Given the description of an element on the screen output the (x, y) to click on. 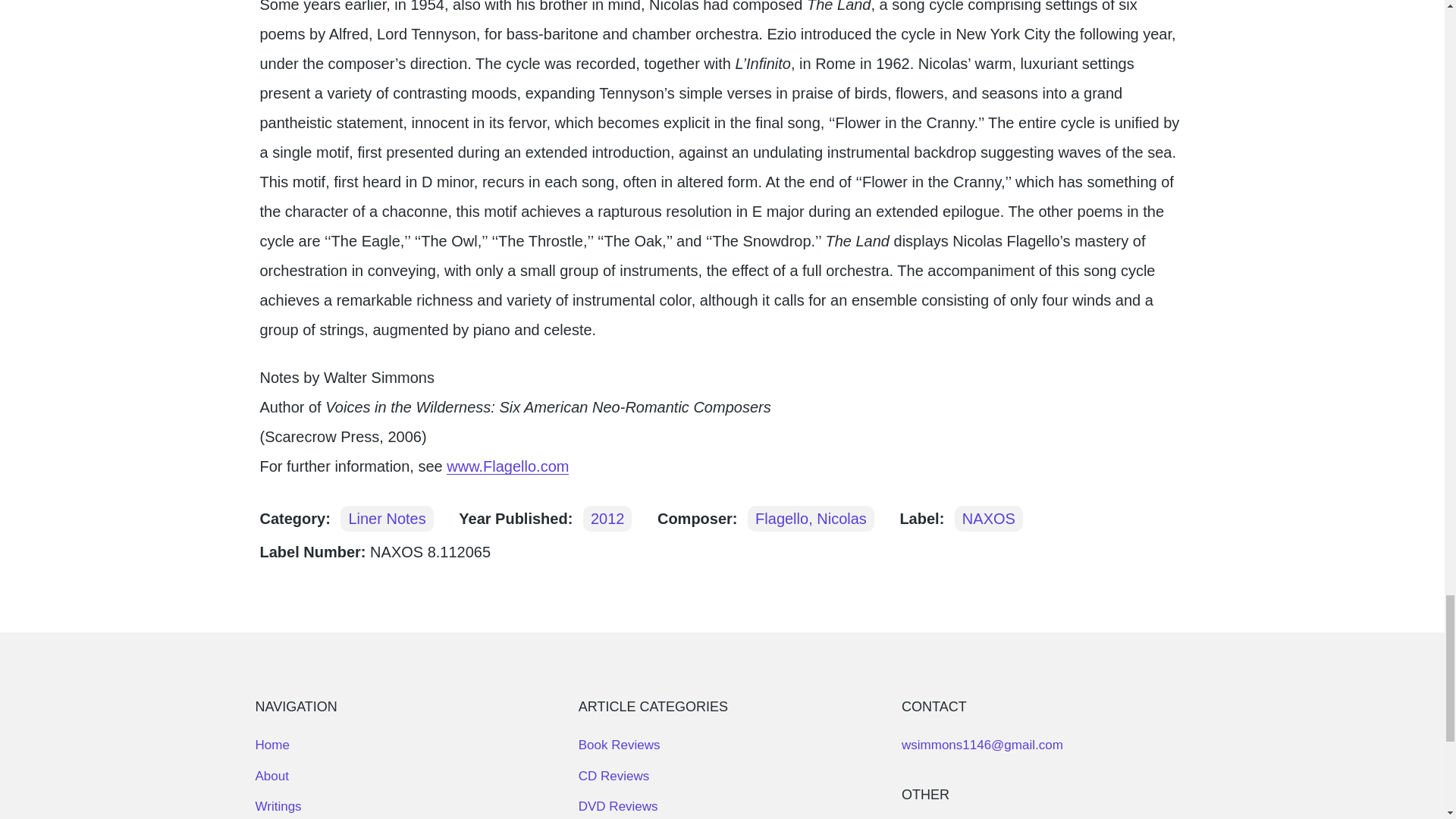
CD Reviews (613, 775)
NAXOS (989, 518)
About (271, 775)
Liner Notes (386, 518)
DVD Reviews (618, 806)
Home (271, 744)
www.Flagello.com (507, 466)
Book Reviews (619, 744)
Flagello, Nicolas (811, 518)
Writings (277, 806)
2012 (607, 518)
